Given the description of an element on the screen output the (x, y) to click on. 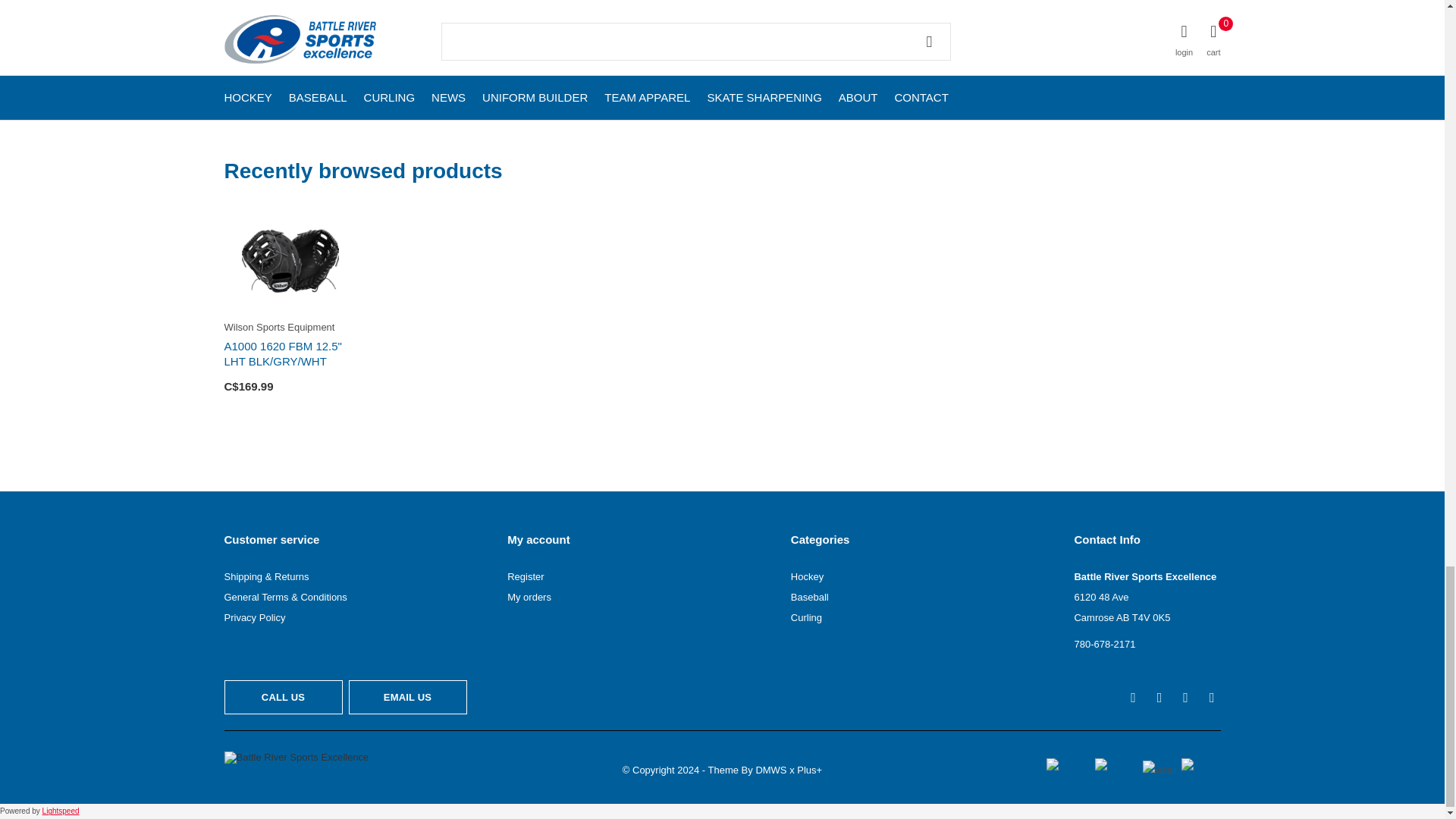
My orders (528, 596)
Register (524, 576)
Lightspeed (61, 810)
